Given the description of an element on the screen output the (x, y) to click on. 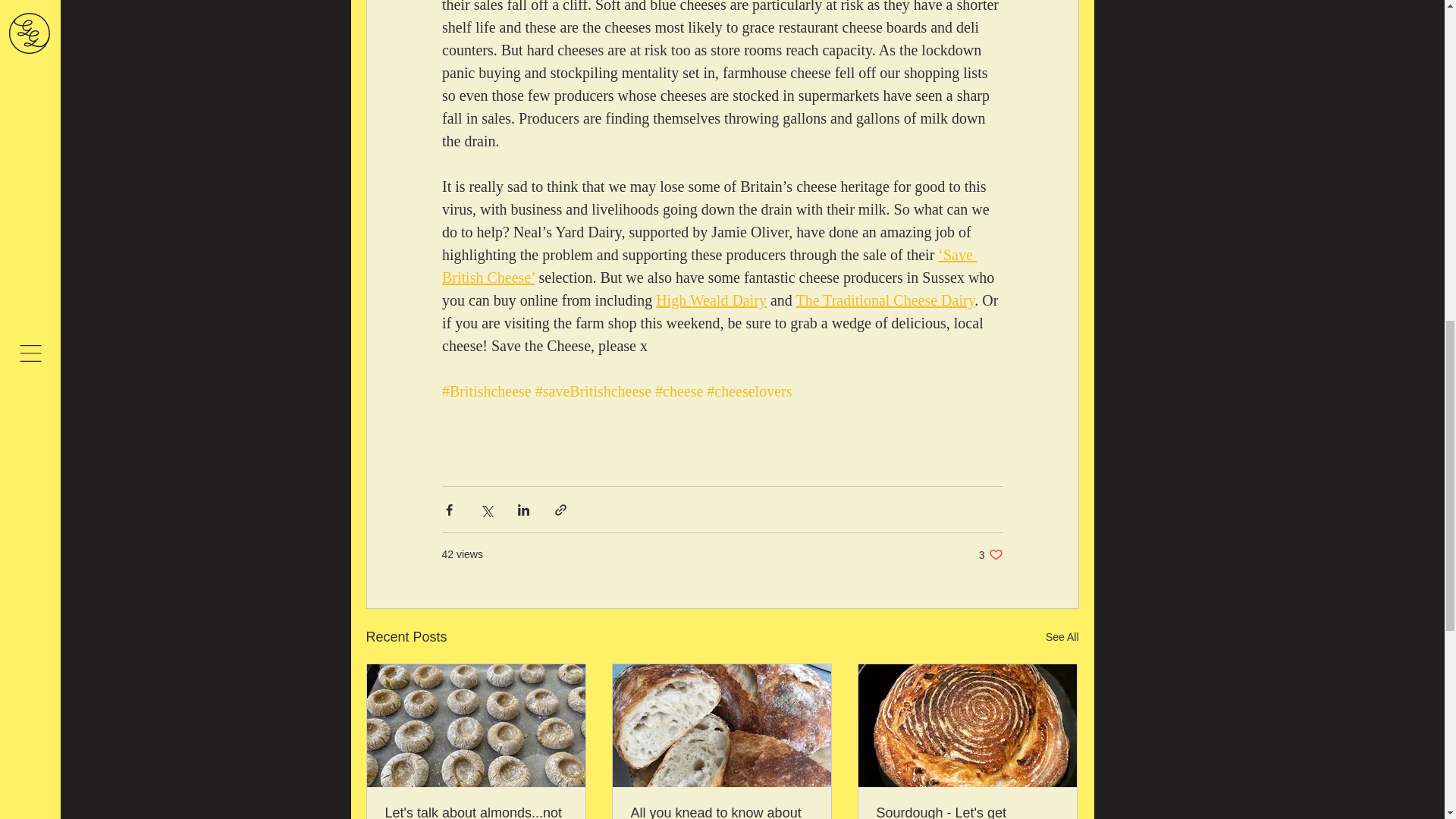
The Traditional Cheese Dairy (884, 299)
High Weald Dairy (711, 299)
Sourdough - Let's get Startered! (990, 554)
Let's talk about almonds...not all nuts are created equal (967, 812)
See All (476, 812)
